Given the description of an element on the screen output the (x, y) to click on. 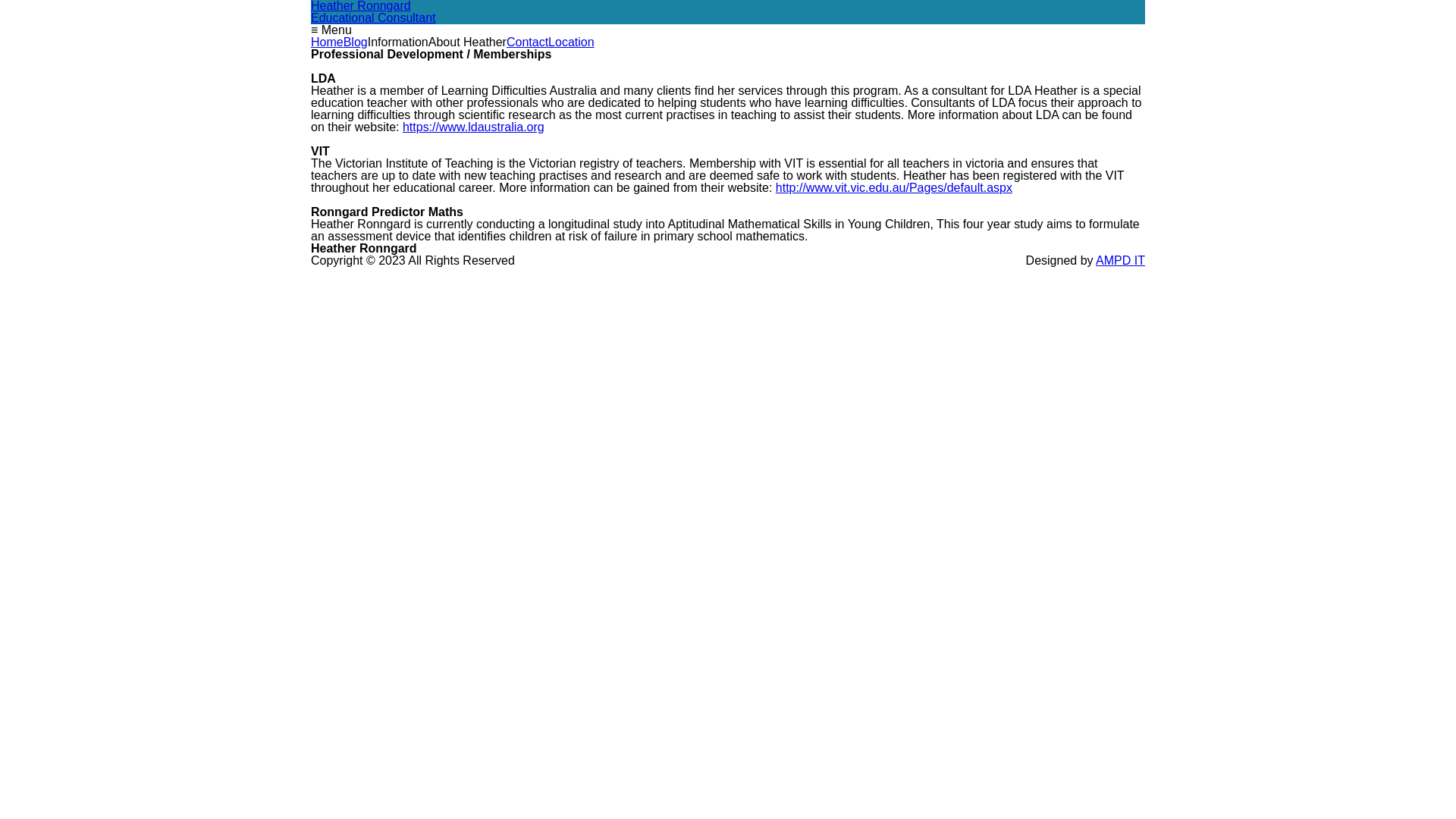
About Heather Element type: text (467, 42)
https://www.ldaustralia.org Element type: text (473, 126)
http://www.vit.vic.edu.au/Pages/default.aspx Element type: text (893, 187)
Location Element type: text (571, 42)
AMPD IT Element type: text (1120, 260)
Information Element type: text (397, 42)
Contact Element type: text (527, 42)
Blog Element type: text (355, 42)
Educational Consultant Element type: text (373, 17)
Home Element type: text (326, 42)
